Given the description of an element on the screen output the (x, y) to click on. 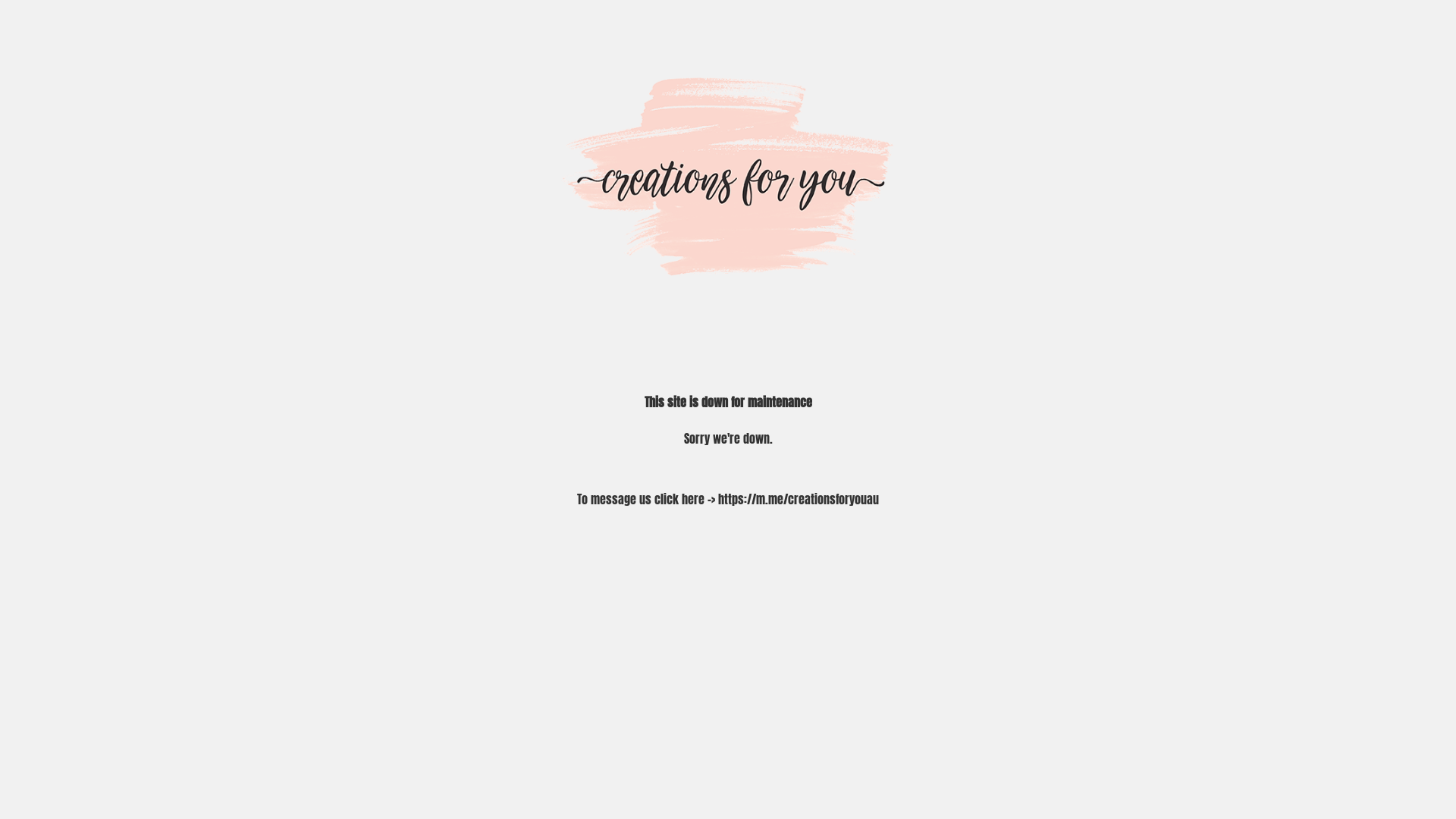
https://m.me/creationsforyouau Element type: text (798, 498)
